Given the description of an element on the screen output the (x, y) to click on. 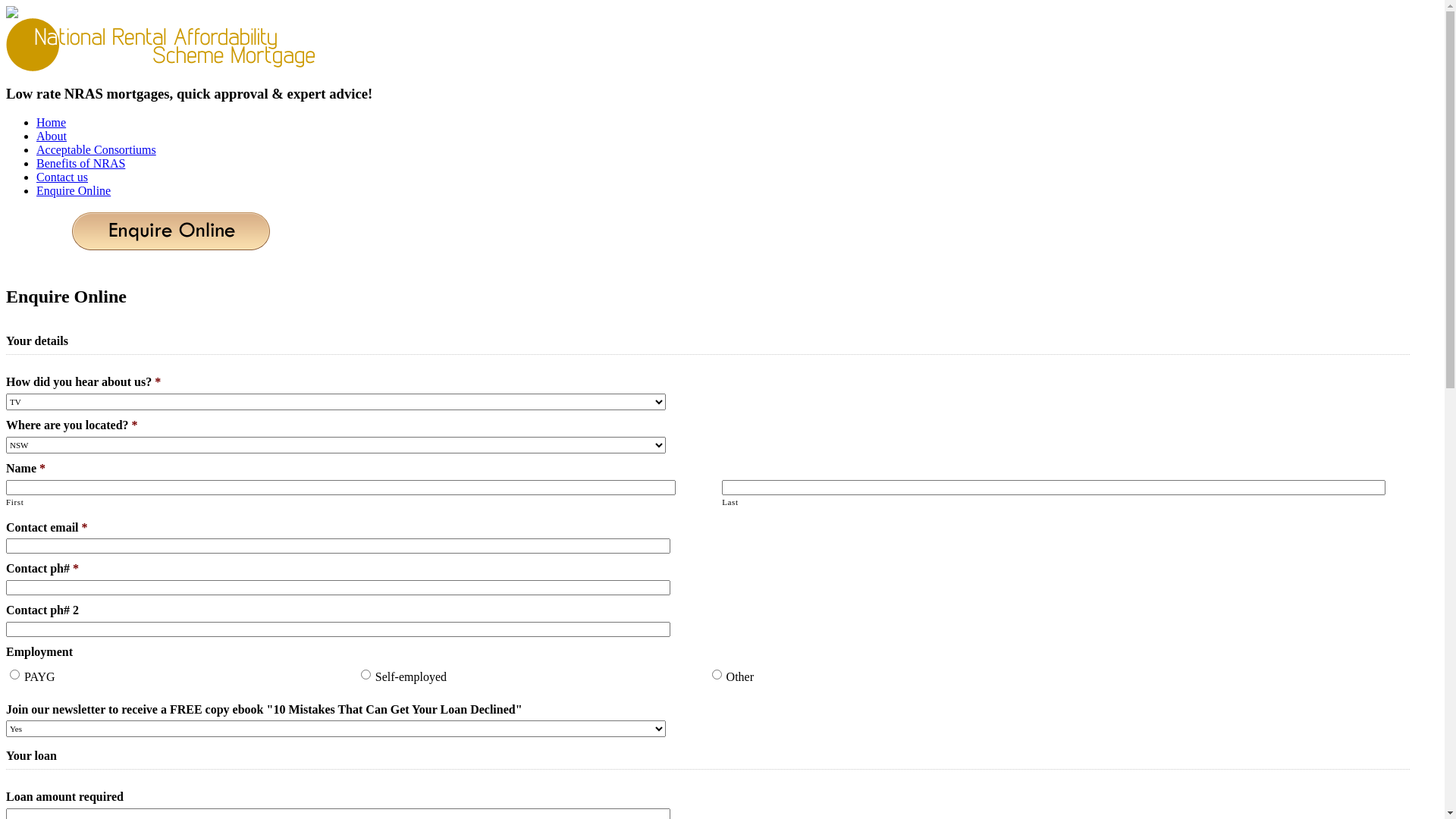
About Element type: text (51, 135)
Enquire Online Element type: text (73, 190)
Home Element type: text (50, 122)
National Rental Affordability Scheme Mortgage Element type: hover (162, 44)
Contact us Element type: text (61, 176)
Benefits of NRAS Element type: text (80, 162)
Acceptable Consortiums Element type: text (96, 149)
